Given the description of an element on the screen output the (x, y) to click on. 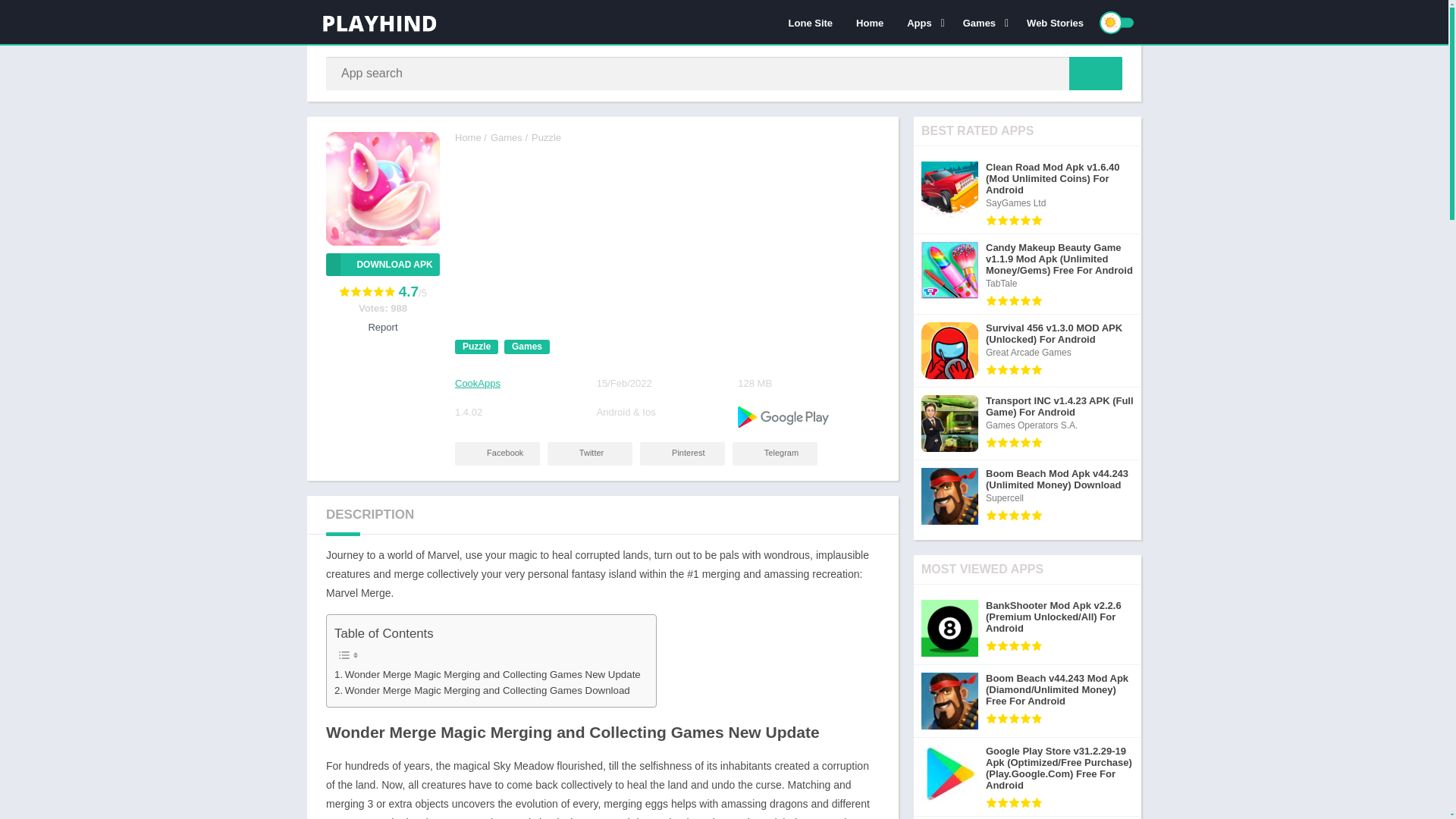
App search (1095, 73)
playhind.com (467, 137)
Download APK (382, 264)
Wonder Merge Magic Merging and Collecting Games Download (482, 690)
Wonder Merge Magic Merging and Collecting Games New Update (487, 674)
